Given the description of an element on the screen output the (x, y) to click on. 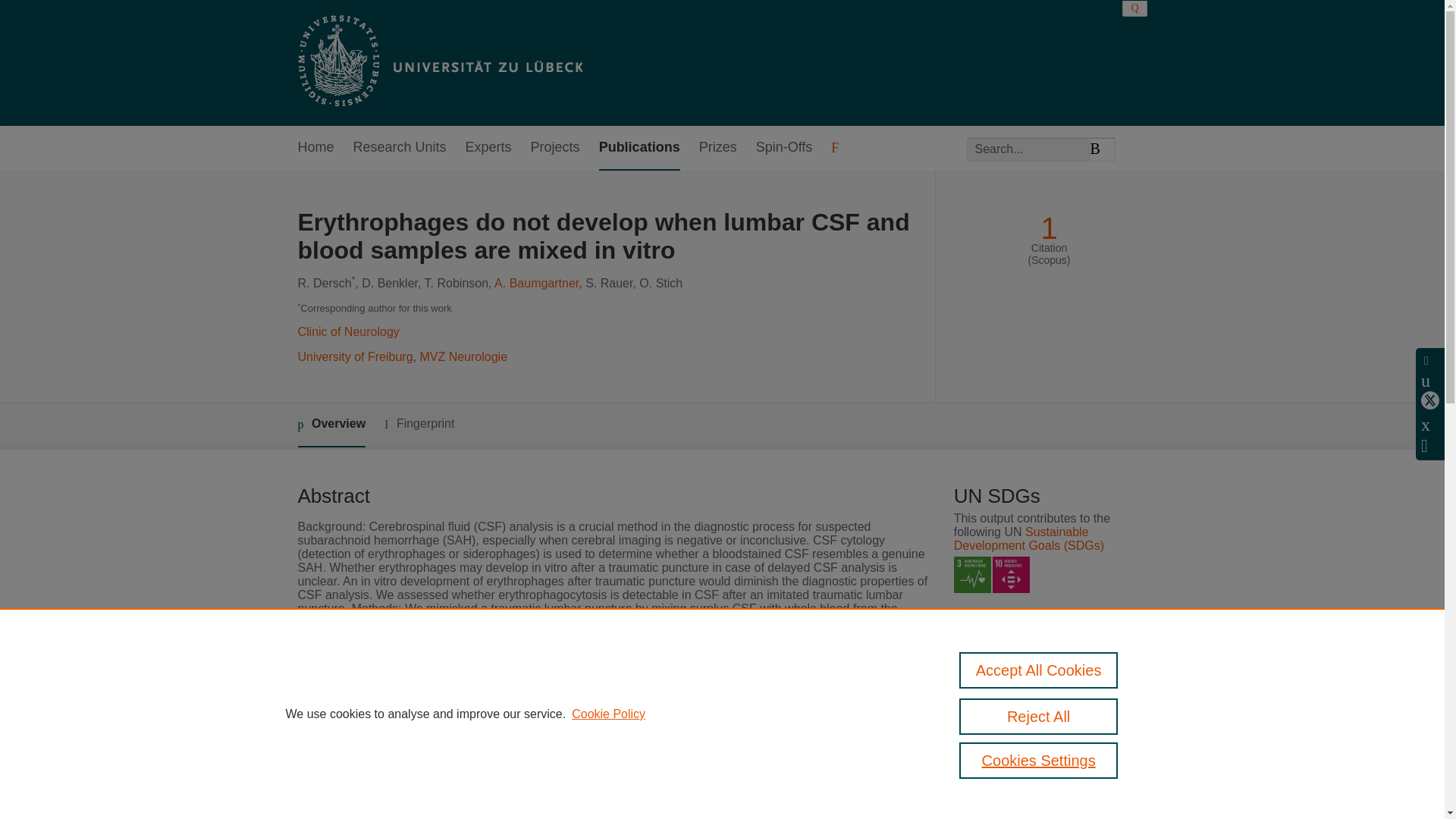
Projects (555, 148)
Clinic of Neurology (347, 331)
A. Baumgartner (536, 282)
University of Freiburg (354, 356)
Fingerprint (419, 423)
University of Luebeck Home (438, 62)
SDG 3 - Good Health and Well-being (972, 574)
Fluids and Barriers of the CNS (590, 804)
SDG 10 - Reduced Inequalities (1010, 574)
Overview (331, 424)
